Given the description of an element on the screen output the (x, y) to click on. 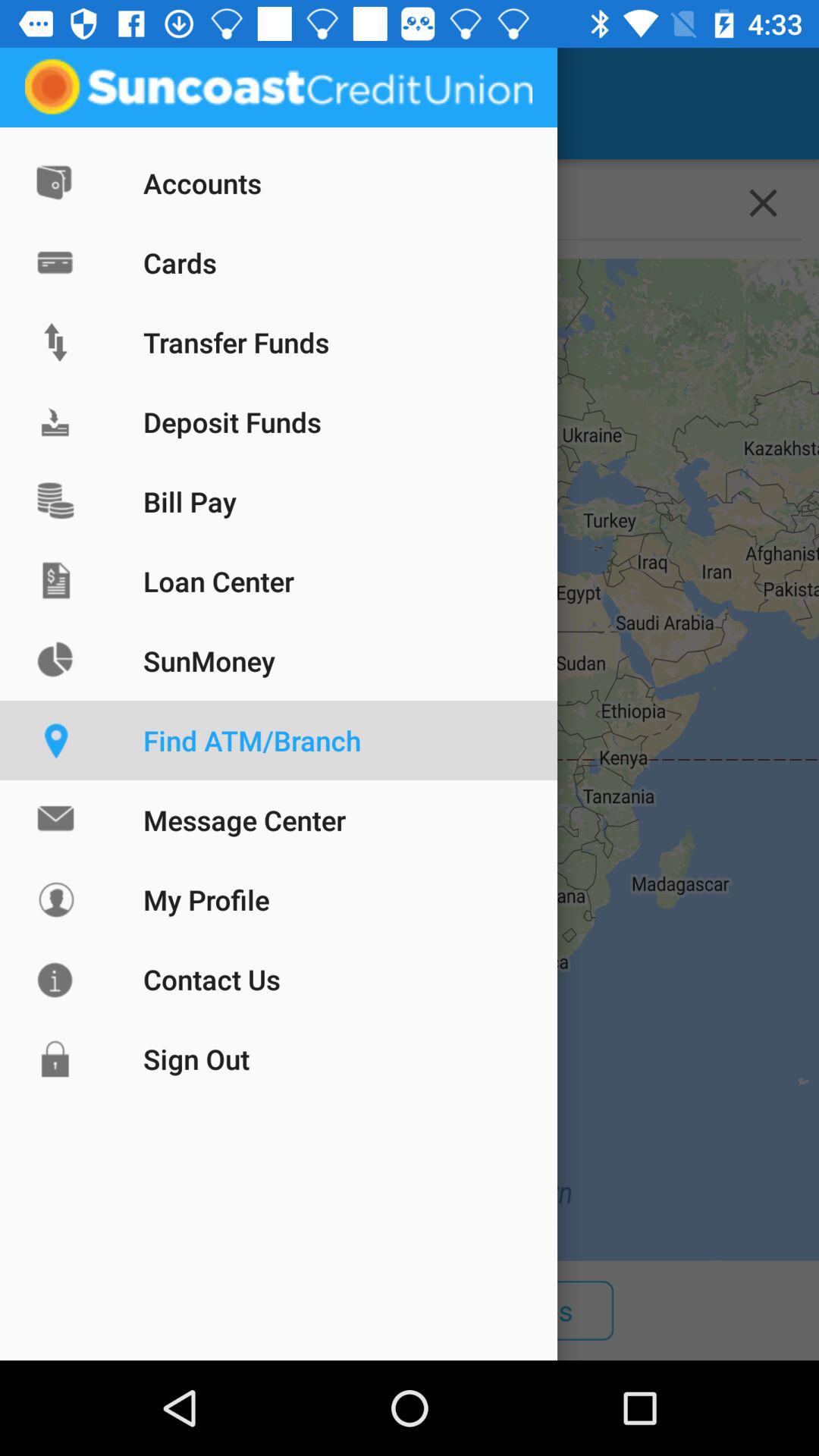
turn on the icon next to atms (513, 1310)
